Given the description of an element on the screen output the (x, y) to click on. 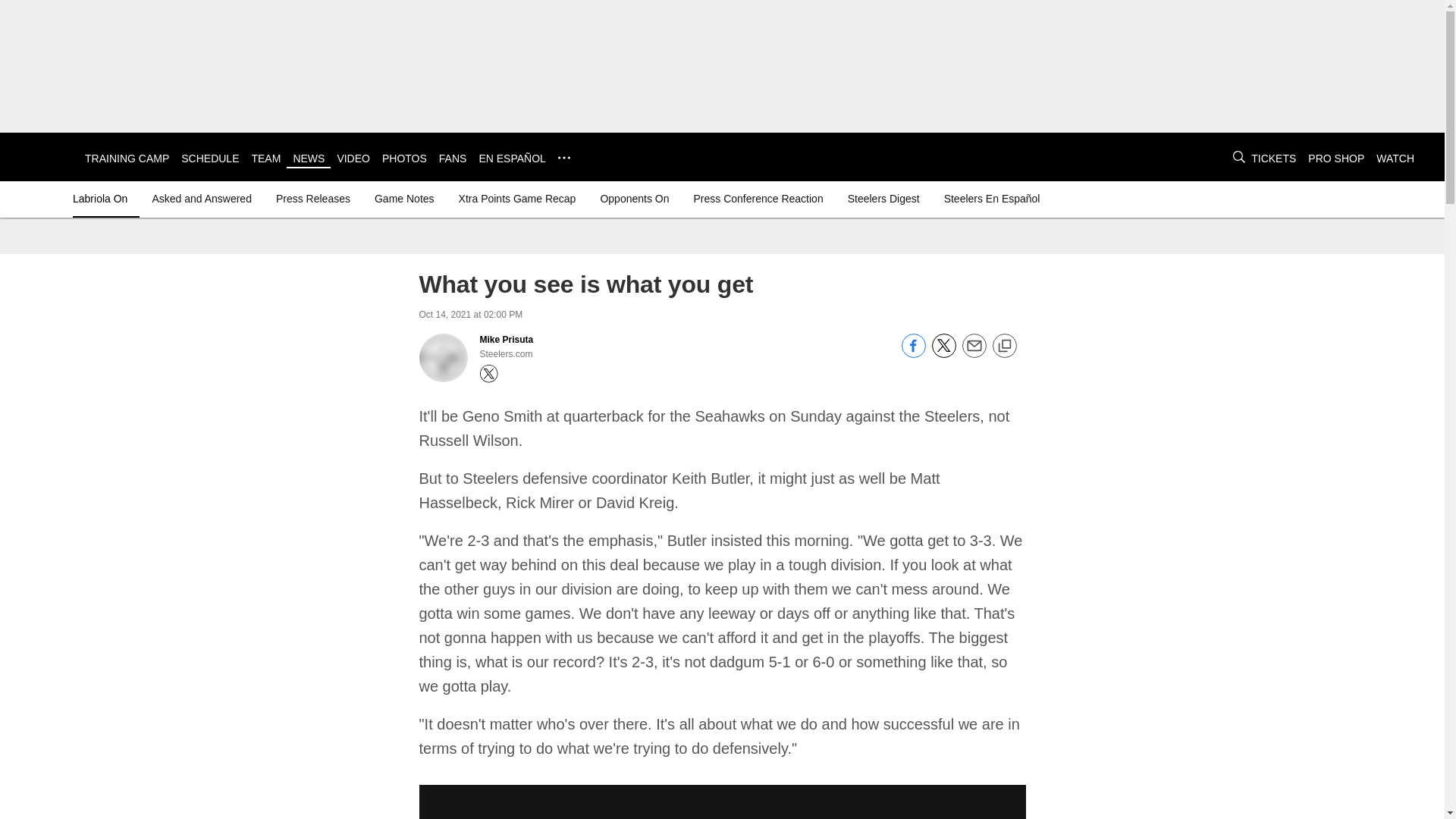
PRO SHOP (1335, 158)
Game Notes (404, 198)
Link to club's homepage (42, 156)
Opponents On (634, 198)
VIDEO (352, 158)
SCHEDULE (209, 158)
FANS (453, 158)
Labriola On (102, 198)
... (563, 157)
WATCH (1394, 158)
TRAINING CAMP (126, 158)
TEAM (265, 158)
NEWS (308, 158)
SCHEDULE (209, 158)
PHOTOS (403, 158)
